Given the description of an element on the screen output the (x, y) to click on. 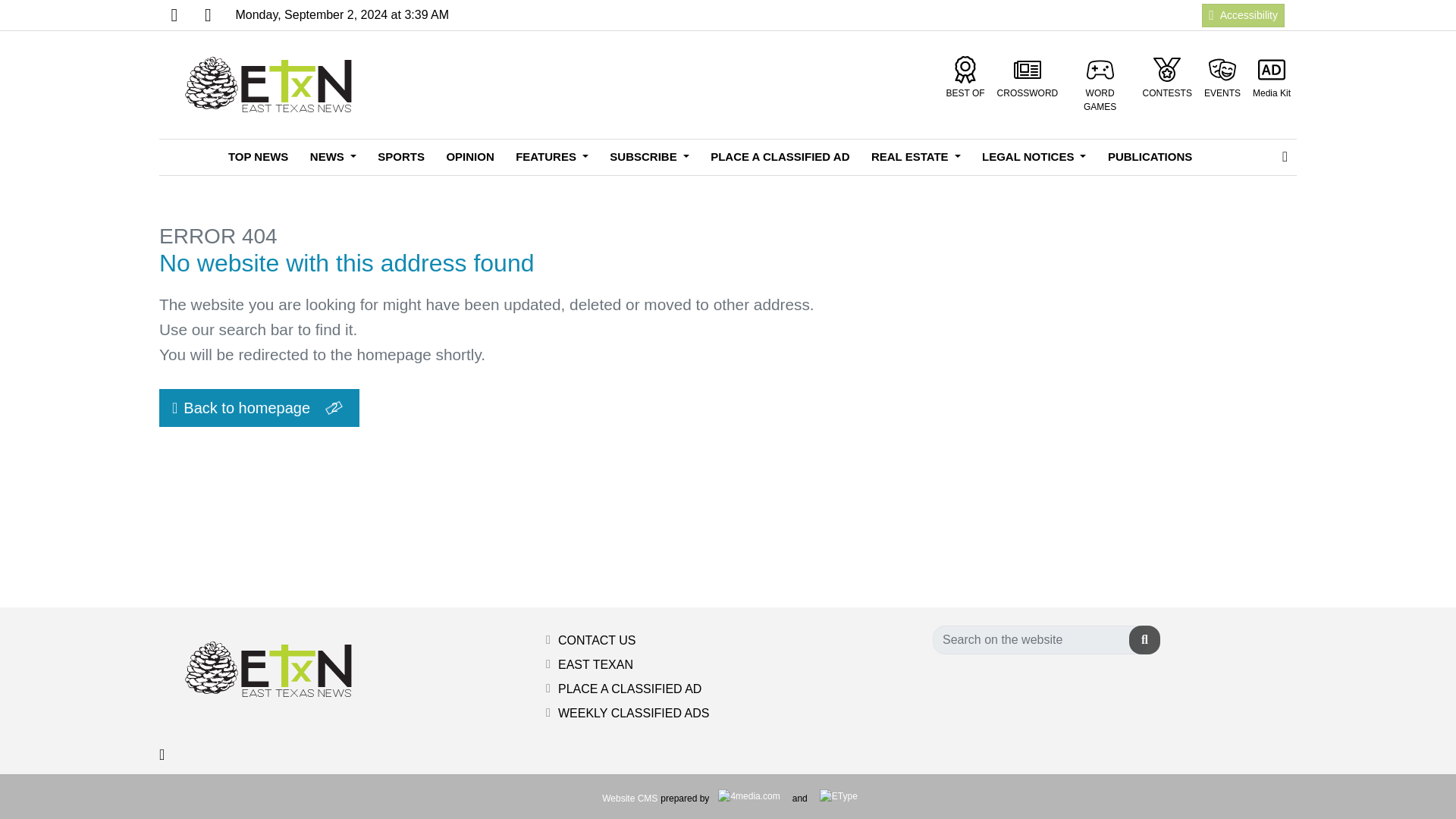
CONTESTS (1167, 77)
CONTESTS (1167, 77)
Go to RSS (207, 15)
CROSSWORDS (1027, 77)
Facebook.com (173, 15)
WORD GAMES (1100, 84)
Go to Facebook.com (173, 15)
OPINION (469, 157)
WORD GAMES (1100, 84)
